Given the description of an element on the screen output the (x, y) to click on. 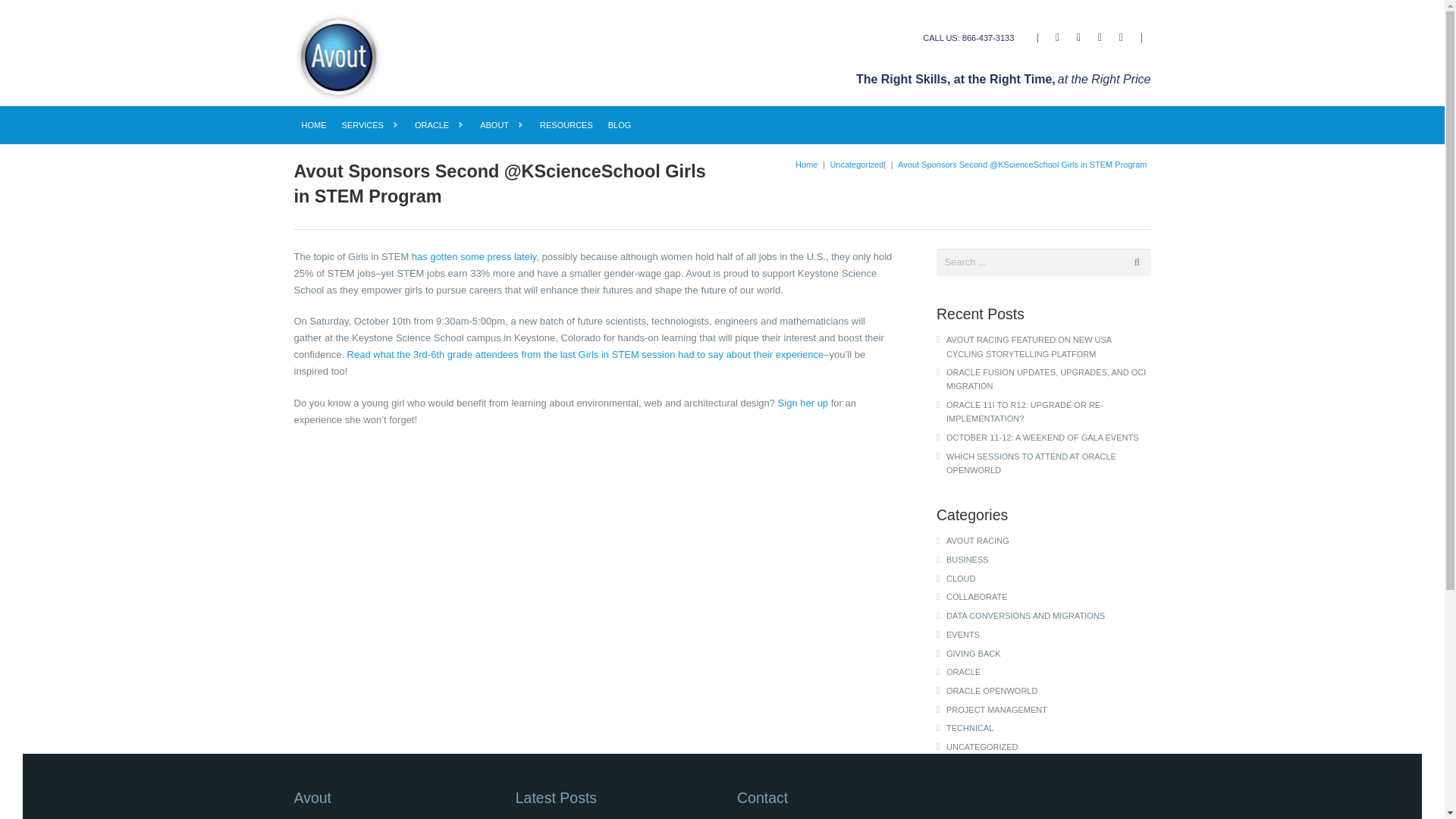
BUSINESS (1048, 559)
SERVICES (369, 125)
has gotten some press lately (474, 256)
ORACLE (439, 125)
Home (805, 163)
Twitter (1078, 37)
RESOURCES (565, 125)
BLOG (619, 125)
HOME (314, 125)
Facebook (1057, 37)
ORACLE 11I TO R12: UPGRADE OR RE-IMPLEMENTATION? (1048, 411)
Sign her up (802, 402)
LinkedIn (1099, 37)
ABOUT (501, 125)
